Given the description of an element on the screen output the (x, y) to click on. 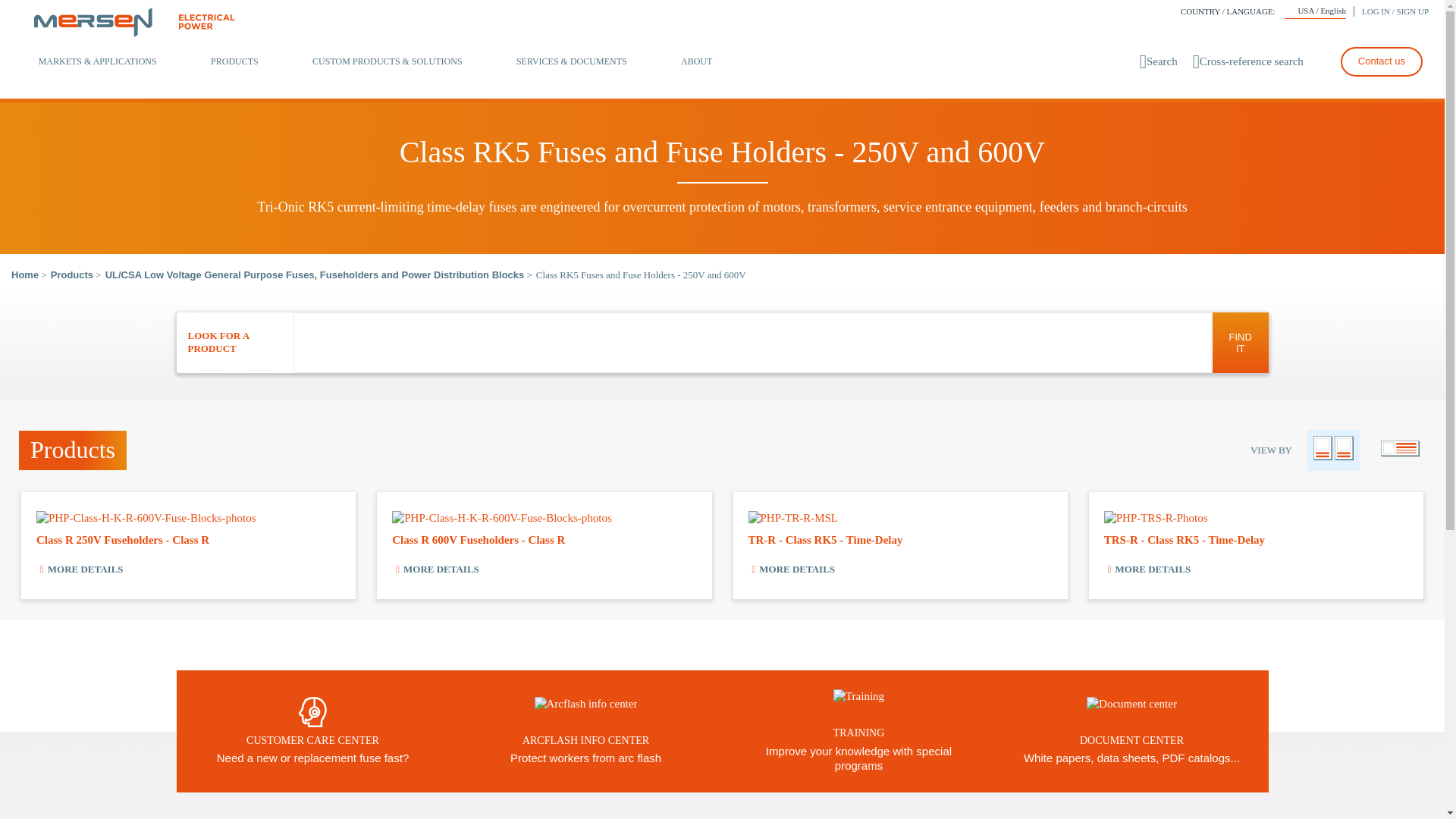
Search (1158, 61)
Cross-reference search (1247, 61)
